Given the description of an element on the screen output the (x, y) to click on. 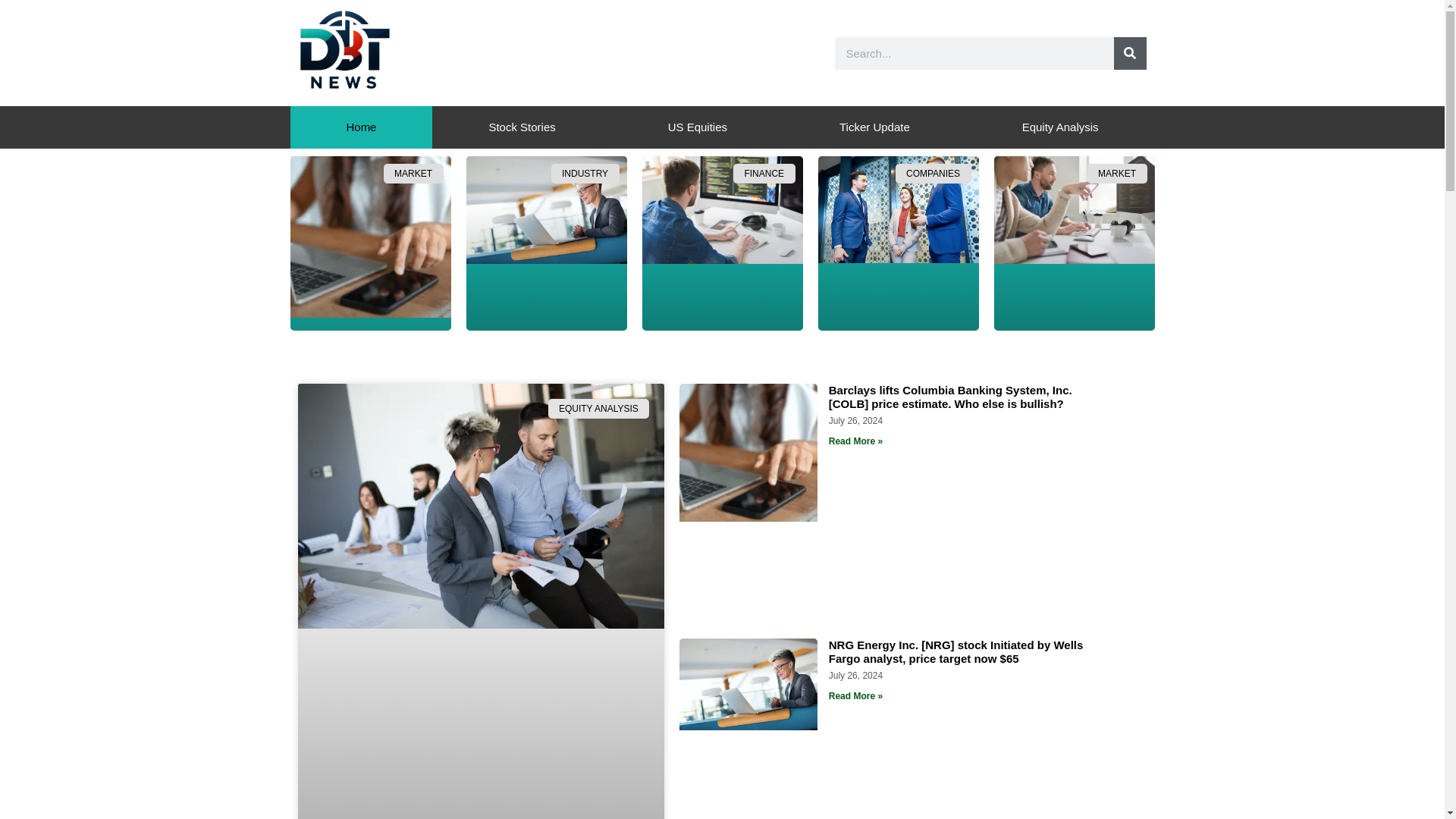
Ticker Update (874, 127)
US Equities (697, 127)
Equity Analysis (1060, 127)
Home (360, 127)
Stock Stories (521, 127)
